Given the description of an element on the screen output the (x, y) to click on. 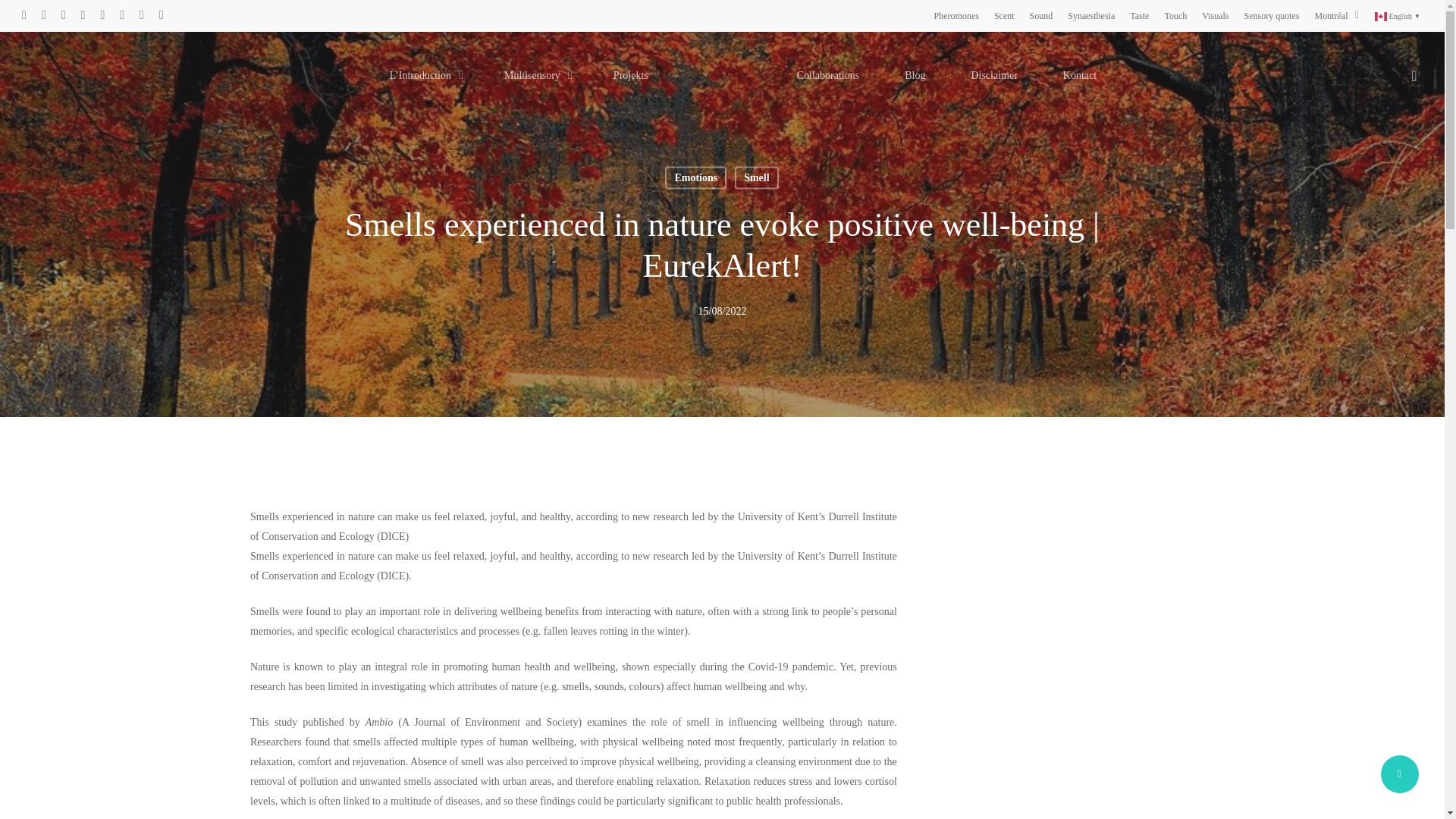
Touch (1174, 15)
Scent (1004, 15)
Sound (1040, 15)
Taste (1138, 15)
Pheromones (956, 15)
Visuals (1215, 15)
Synaesthesia (1091, 15)
Sensory quotes (1272, 15)
